Given the description of an element on the screen output the (x, y) to click on. 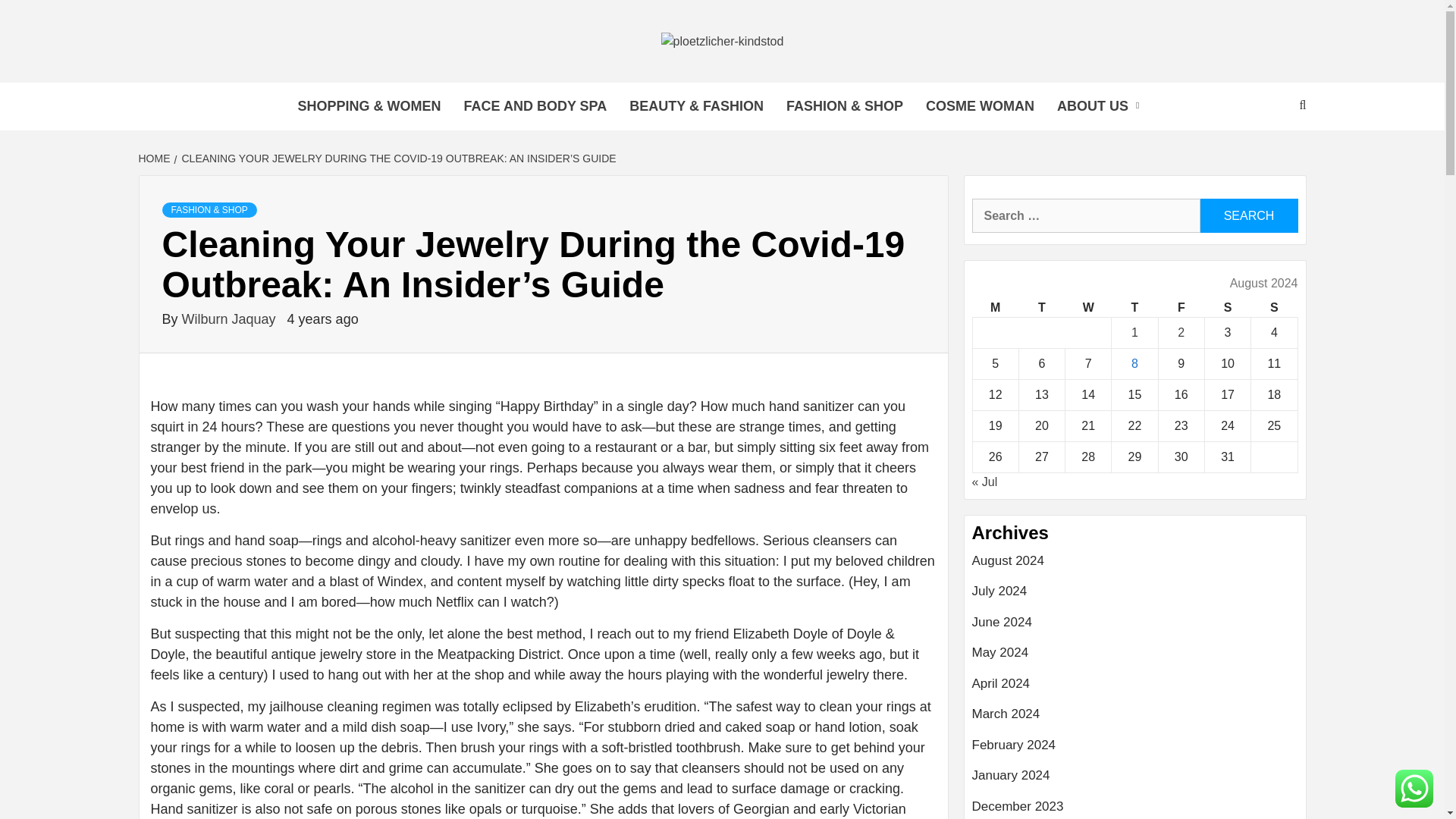
FACE AND BODY SPA (535, 106)
HOME (155, 158)
Search (1248, 215)
Friday (1180, 307)
Search (1248, 215)
June 2024 (1135, 627)
Sunday (1273, 307)
Tuesday (1040, 307)
March 2024 (1135, 719)
Monday (994, 307)
